Given the description of an element on the screen output the (x, y) to click on. 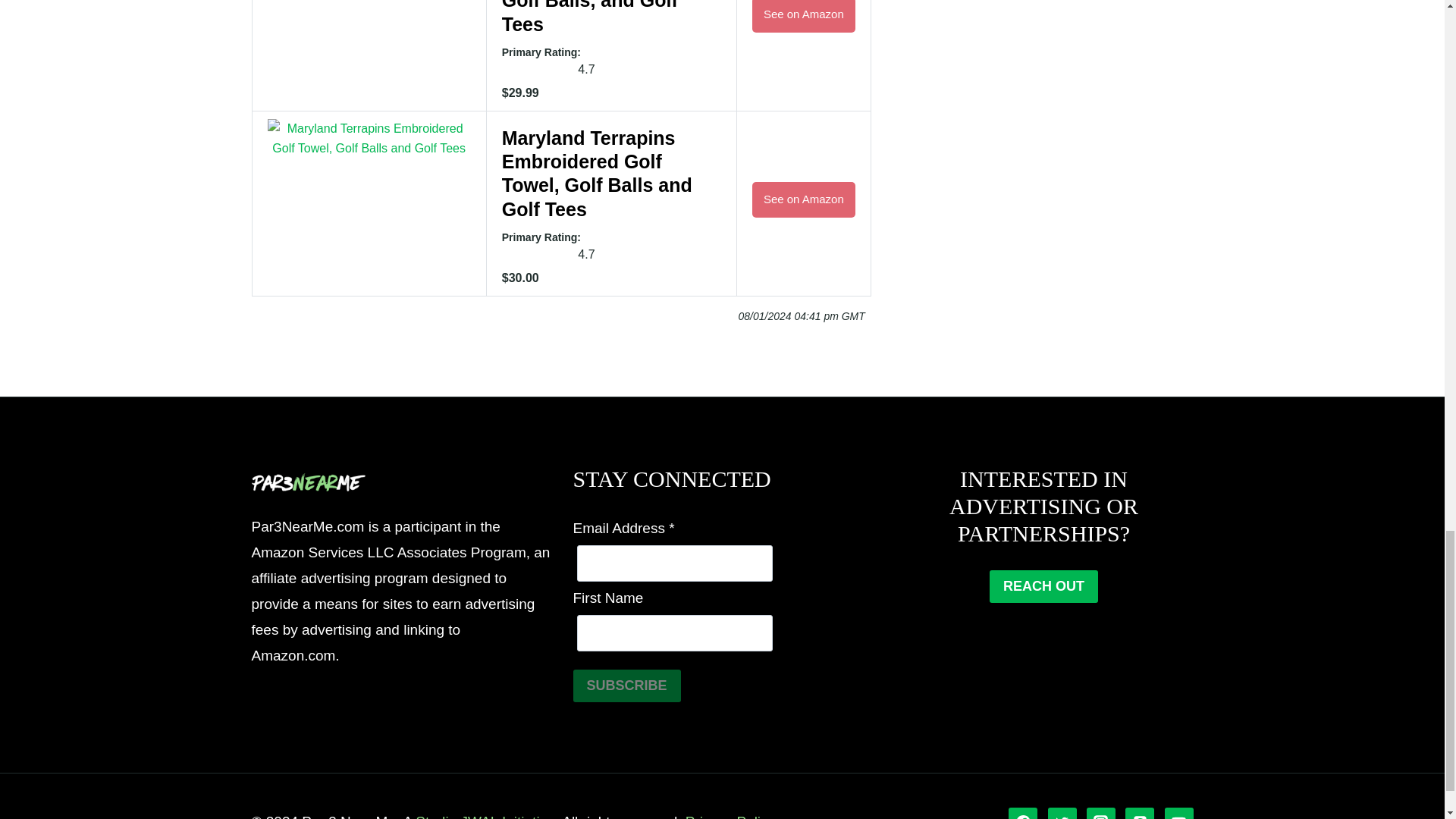
Subscribe (627, 685)
See on Amazon (804, 15)
